Given the description of an element on the screen output the (x, y) to click on. 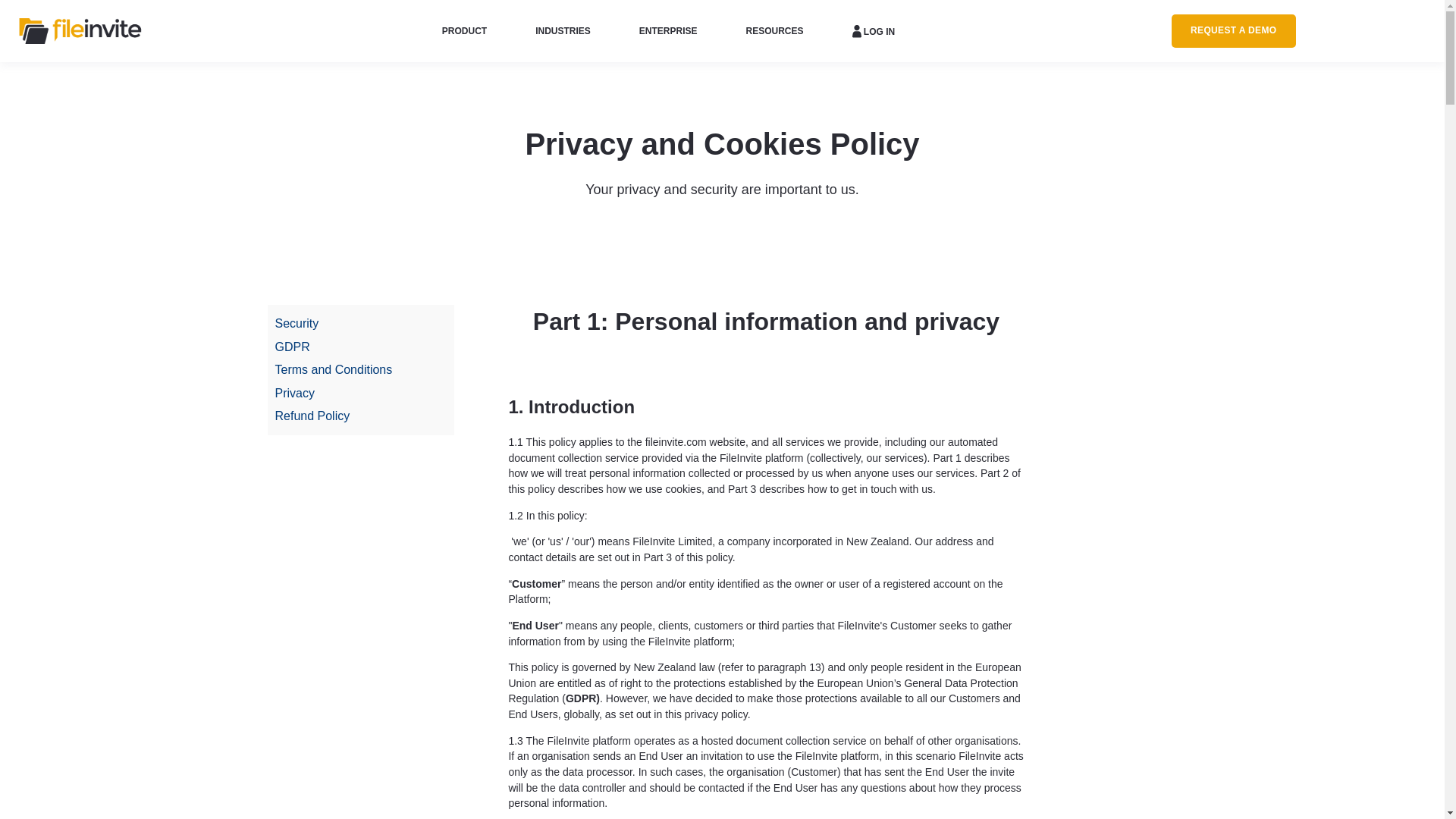
PRODUCT (464, 30)
ENTERPRISE (668, 30)
INDUSTRIES (563, 30)
